Given the description of an element on the screen output the (x, y) to click on. 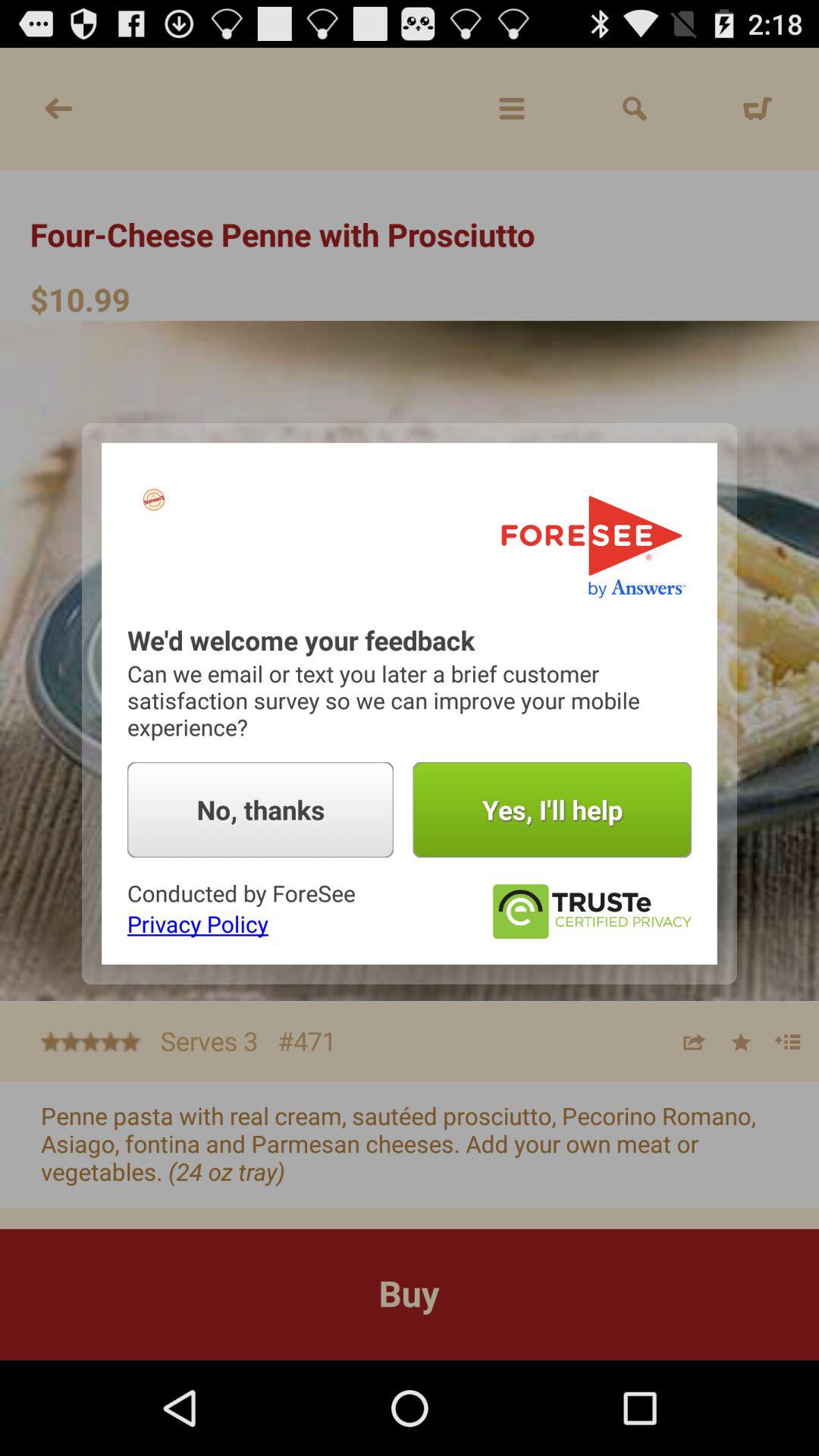
launch the icon below the conducted by foresee item (197, 923)
